Given the description of an element on the screen output the (x, y) to click on. 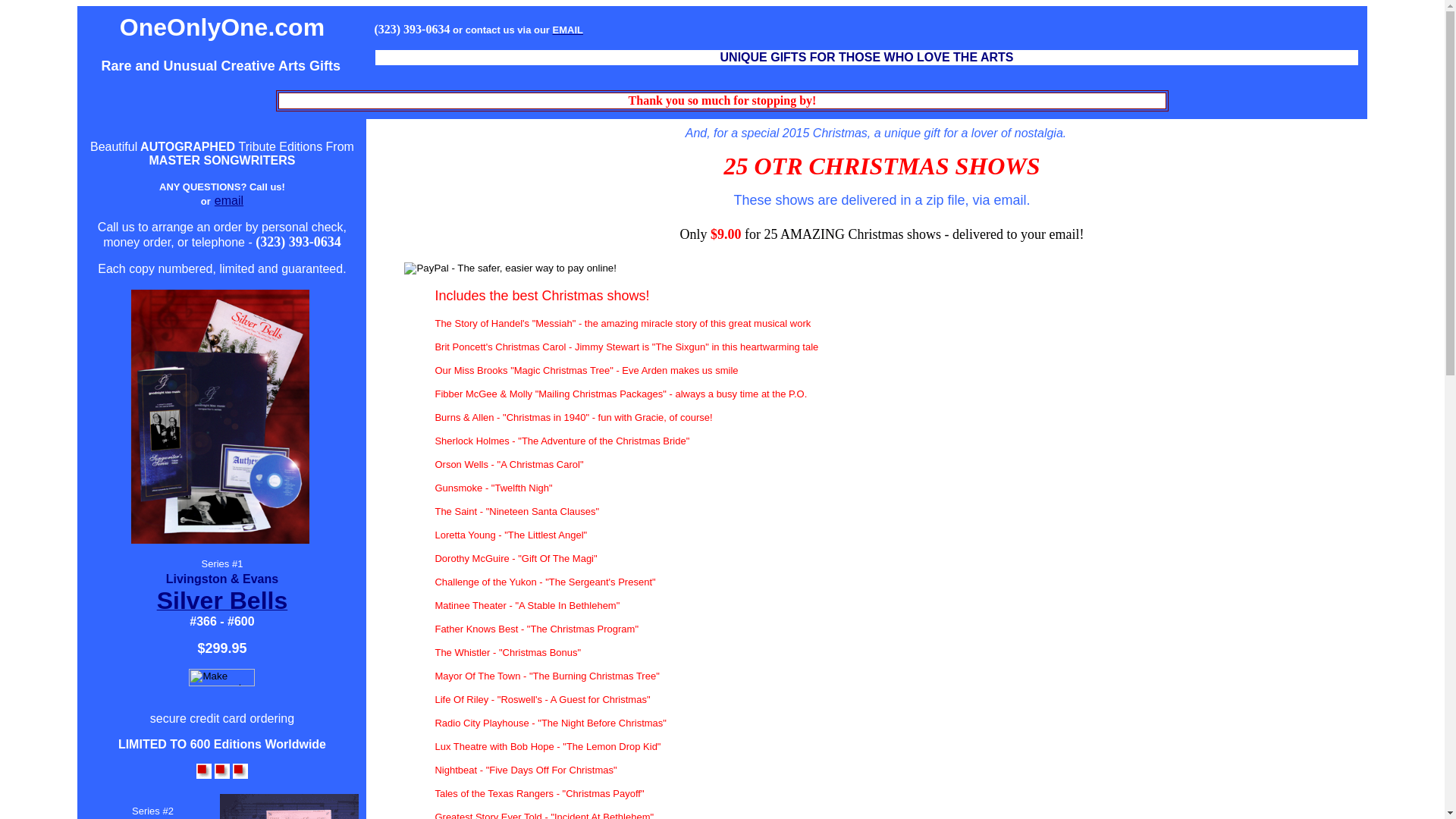
EMAIL Element type: text (567, 28)
email Element type: text (228, 200)
Silver Bells Element type: text (222, 604)
